Given the description of an element on the screen output the (x, y) to click on. 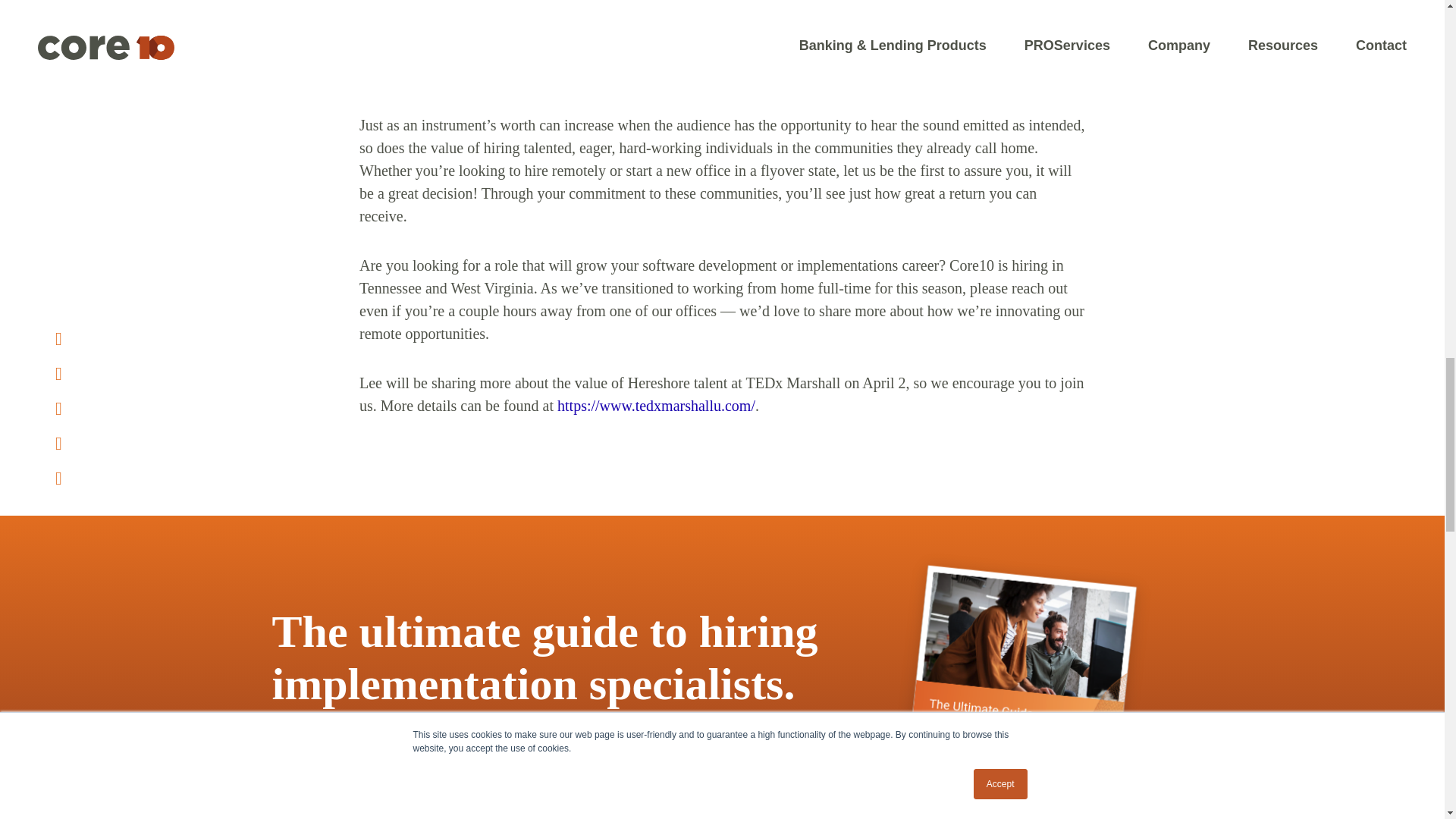
Get it now (342, 799)
GET IT NOW (342, 799)
